Given the description of an element on the screen output the (x, y) to click on. 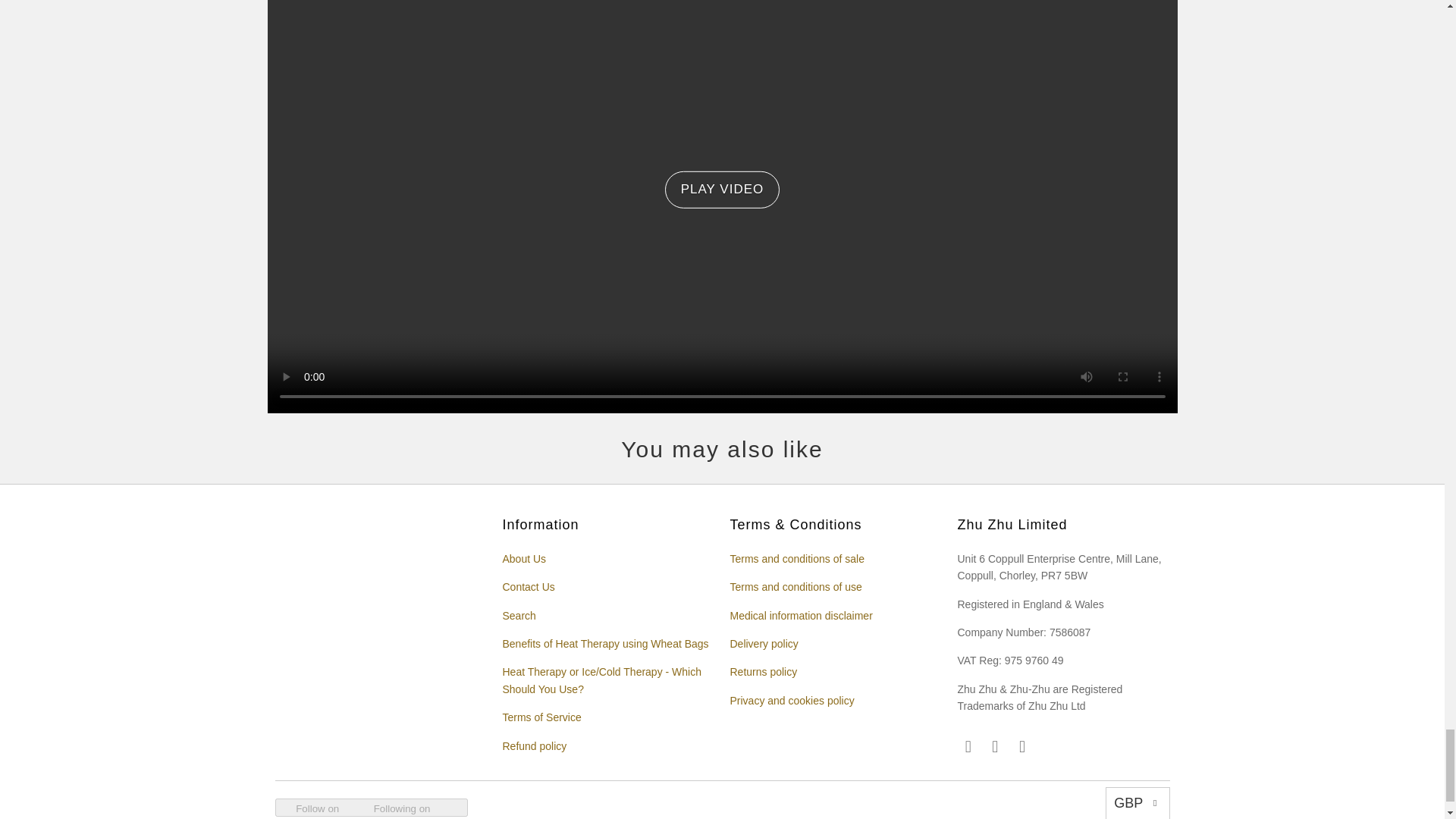
Zhu Zhu on Twitter (1022, 746)
Email Zhu Zhu (967, 746)
Zhu Zhu on Facebook (995, 746)
